Given the description of an element on the screen output the (x, y) to click on. 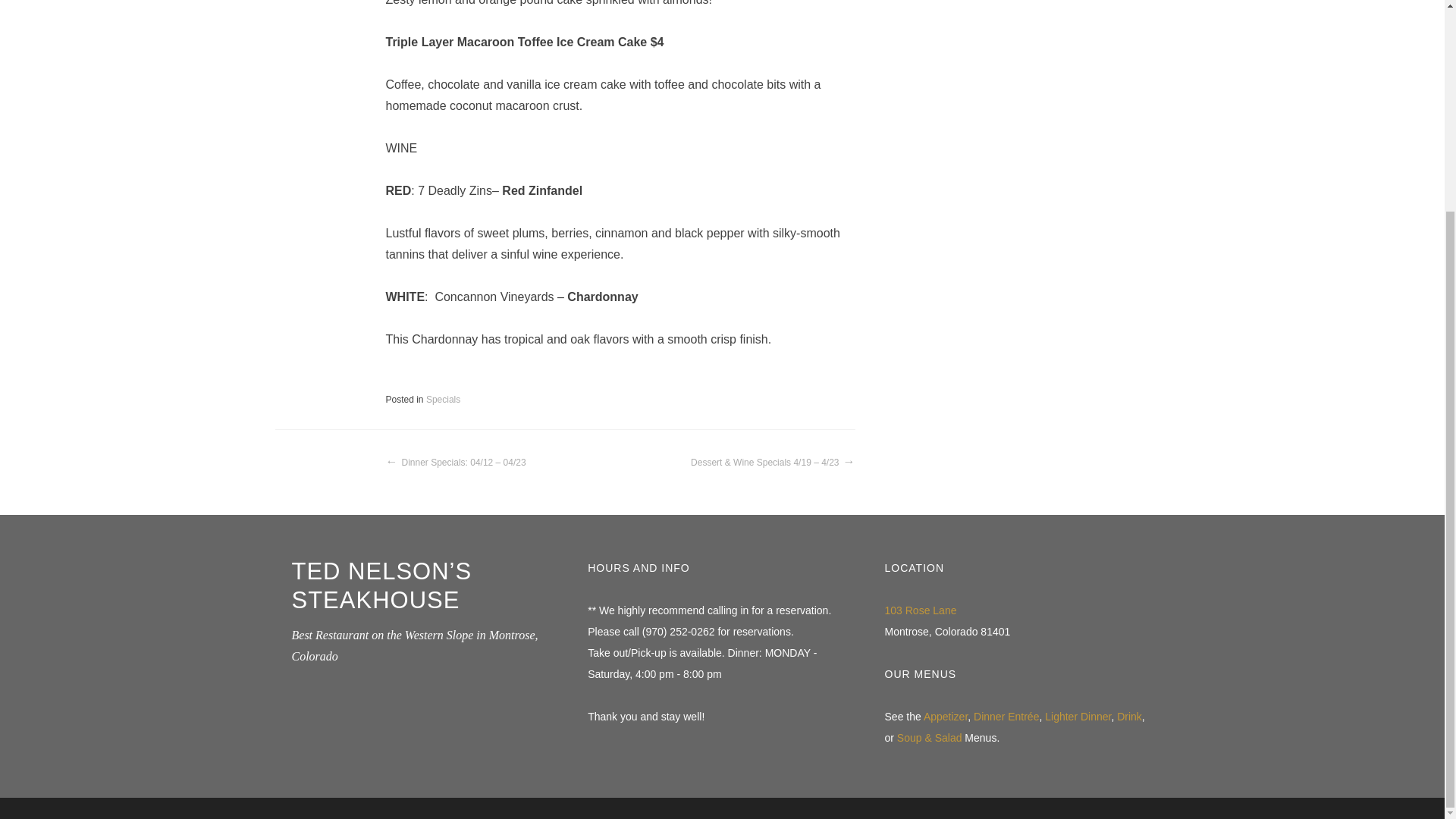
Specials (443, 399)
103 Rose Lane (920, 610)
Appetizer (945, 716)
Drink (1128, 716)
Lighter Dinner (1077, 716)
